Given the description of an element on the screen output the (x, y) to click on. 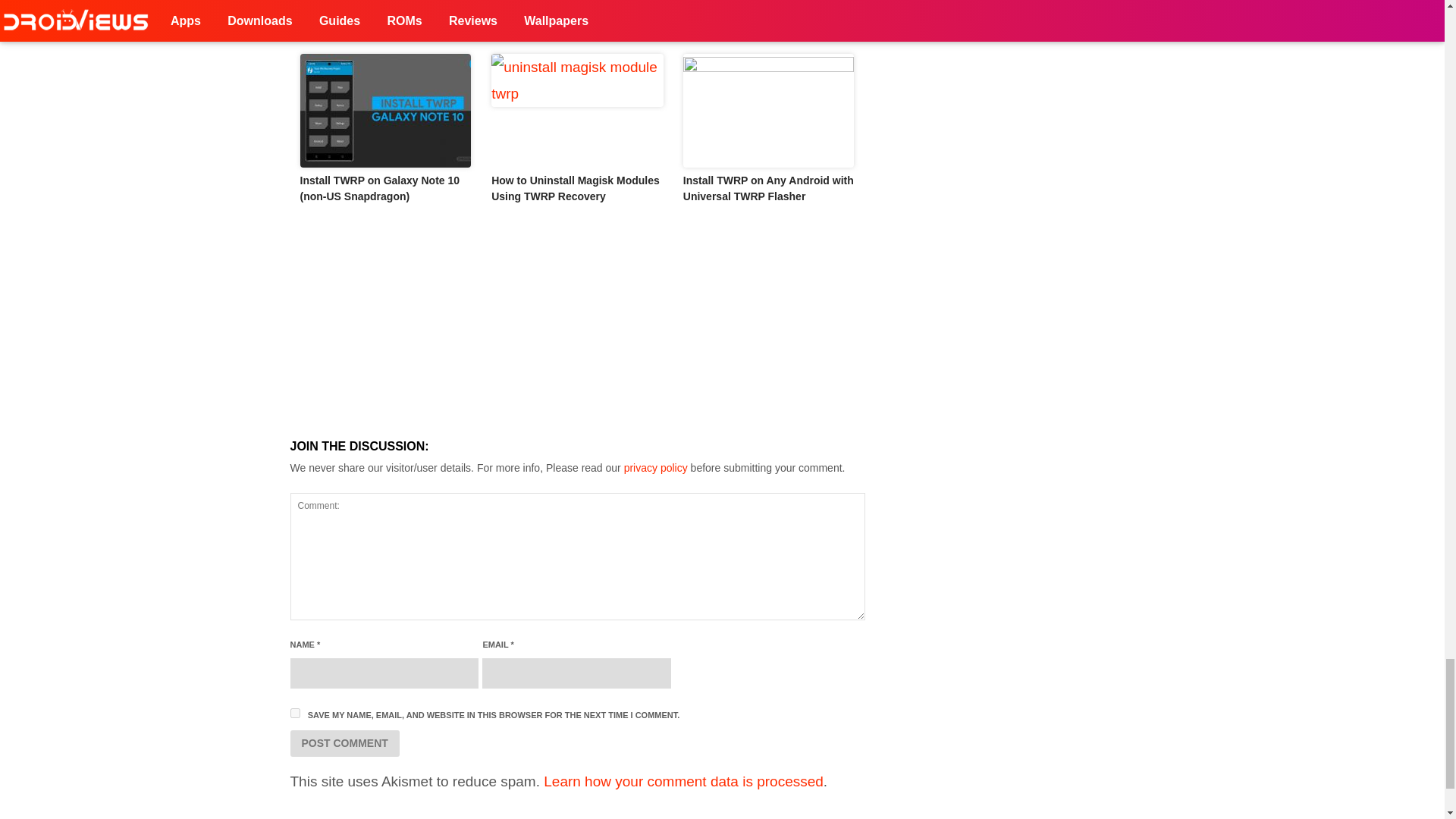
Install TWRP on Any Android with Universal TWRP Flasher (767, 188)
How to Uninstall Magisk Modules Using TWRP Recovery (577, 110)
How to Uninstall Magisk Modules Using TWRP Recovery (575, 188)
yes (294, 713)
Post Comment (343, 743)
Install TWRP on Any Android with Universal TWRP Flasher (769, 110)
comment-policy-title (655, 467)
privacy policy (655, 467)
